Given the description of an element on the screen output the (x, y) to click on. 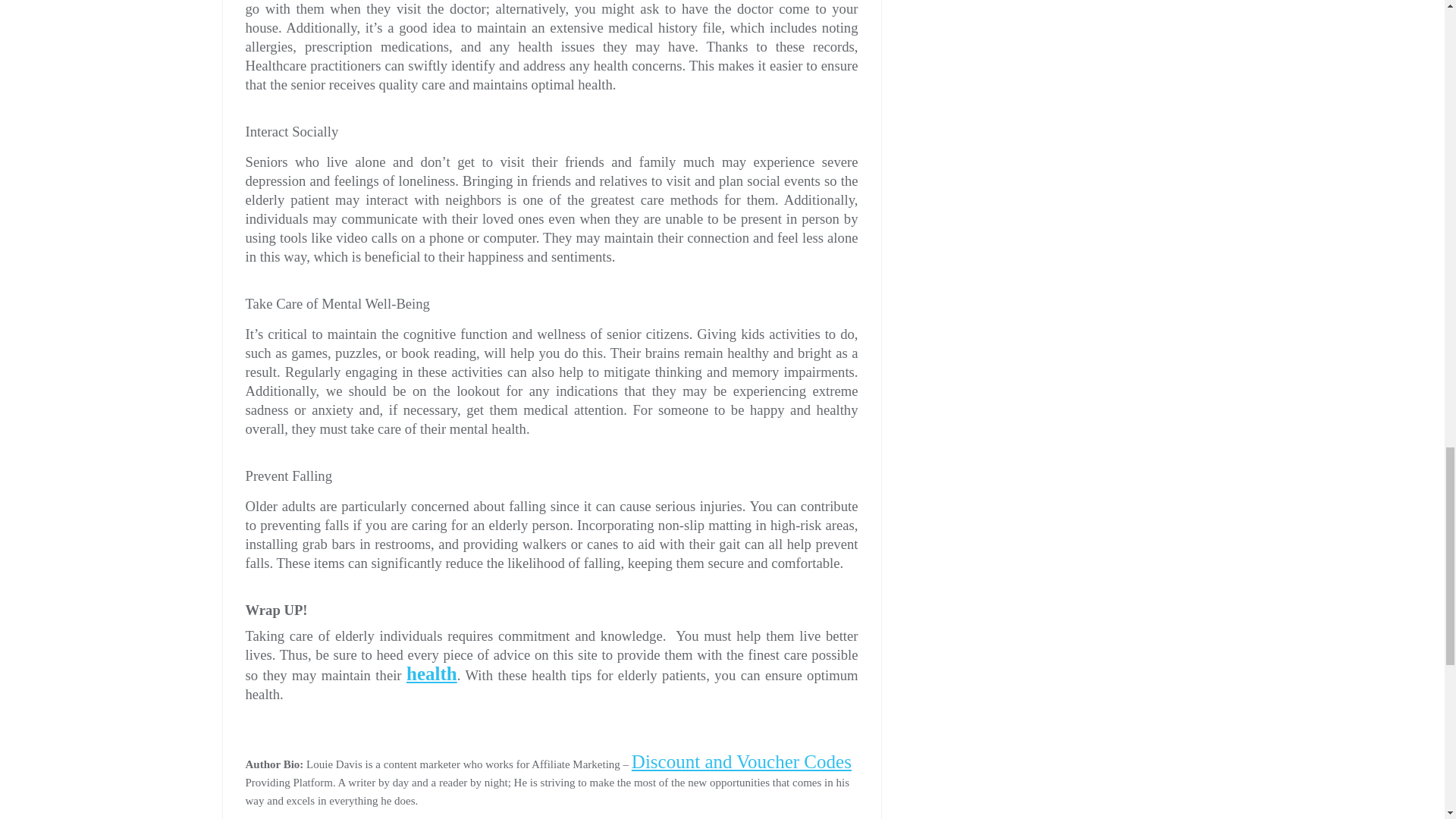
health (431, 673)
Discount and Voucher Codes (741, 761)
